Given the description of an element on the screen output the (x, y) to click on. 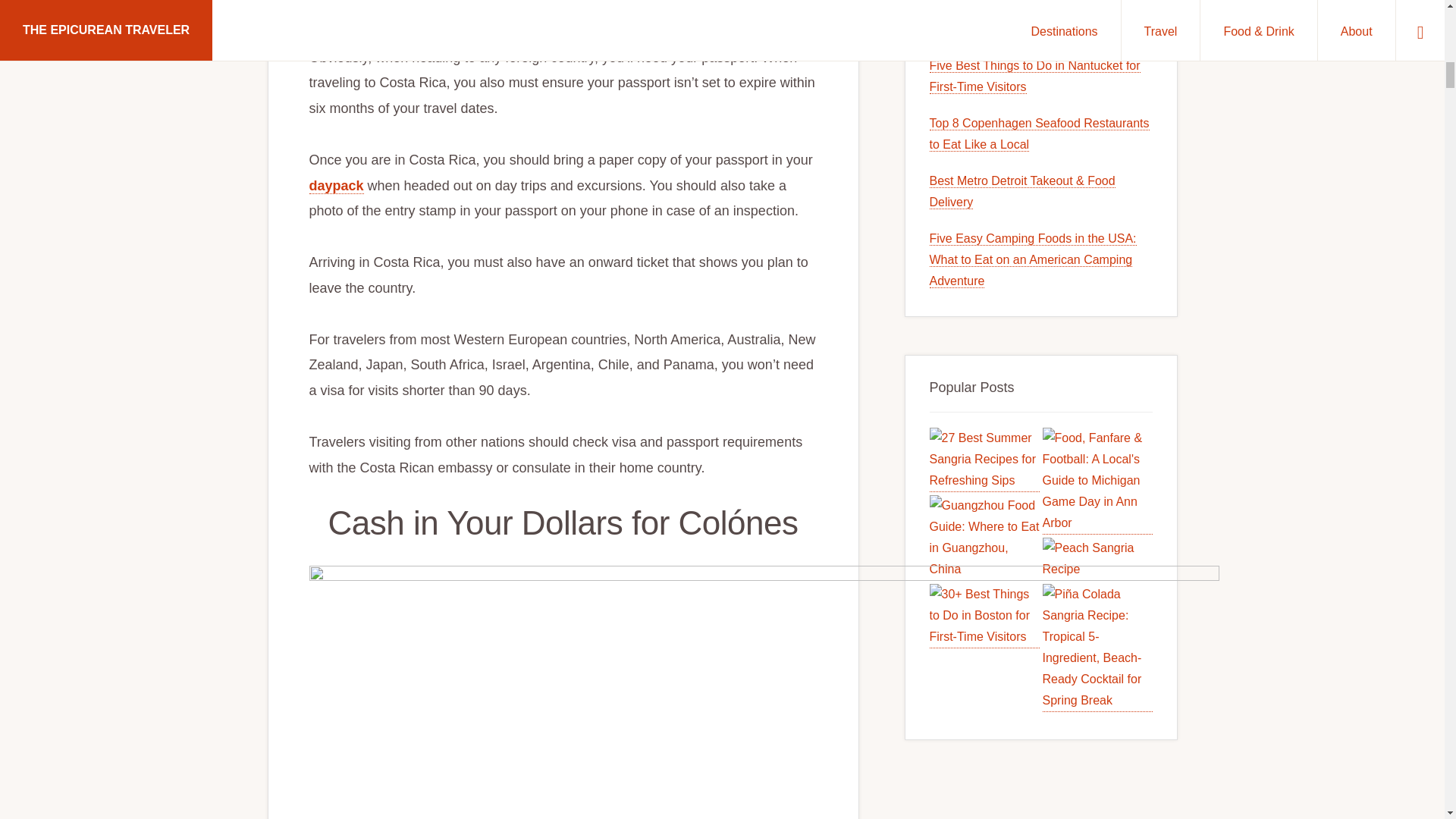
daypack (336, 185)
27 Best Summer Sangria Recipes for Refreshing Sips (984, 459)
cytis (382, 7)
Guangzhou Food Guide: Where to Eat in Guangzhou, China (984, 537)
Peach Sangria Recipe (1096, 558)
